Given the description of an element on the screen output the (x, y) to click on. 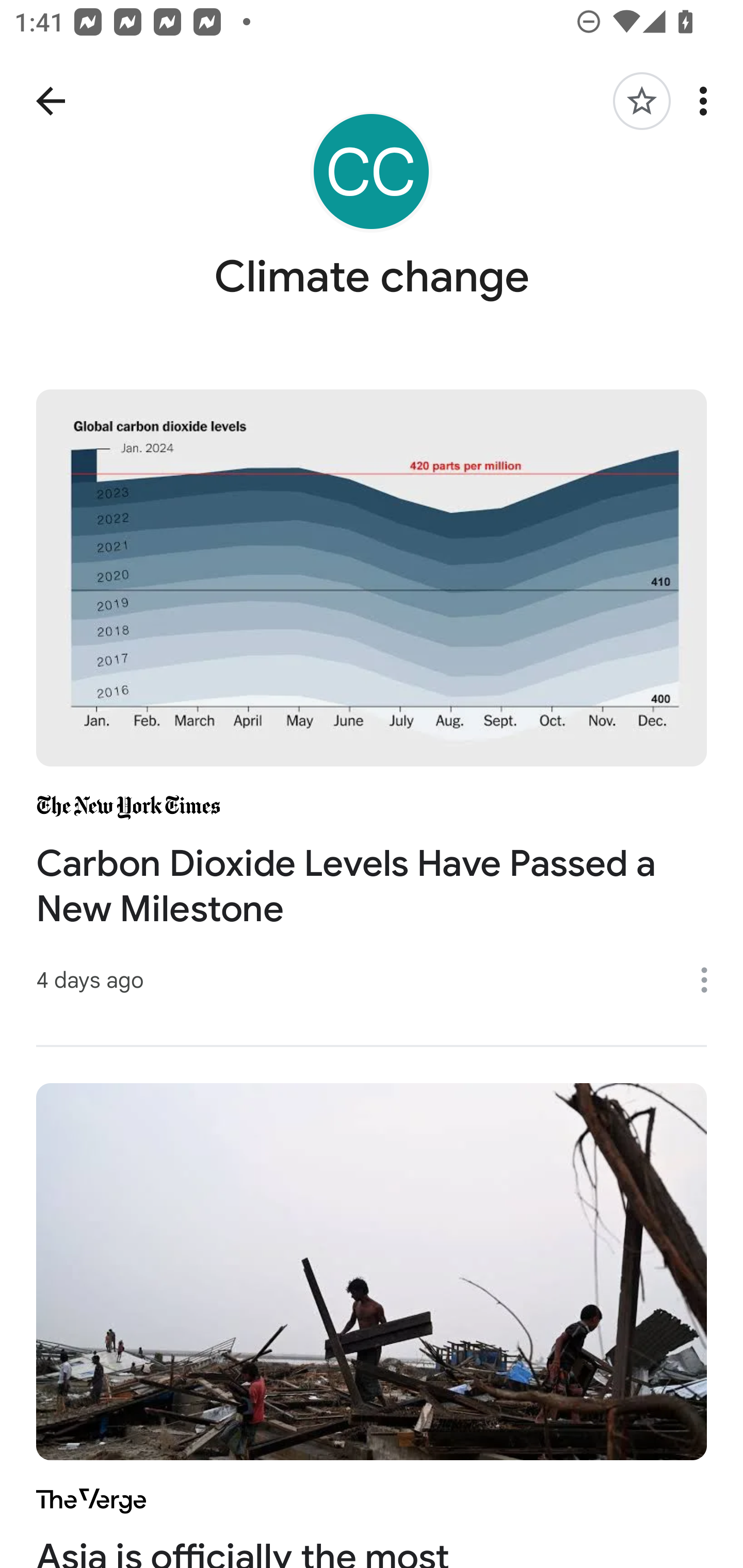
Navigate up (50, 101)
More options (706, 101)
More options (711, 979)
